Given the description of an element on the screen output the (x, y) to click on. 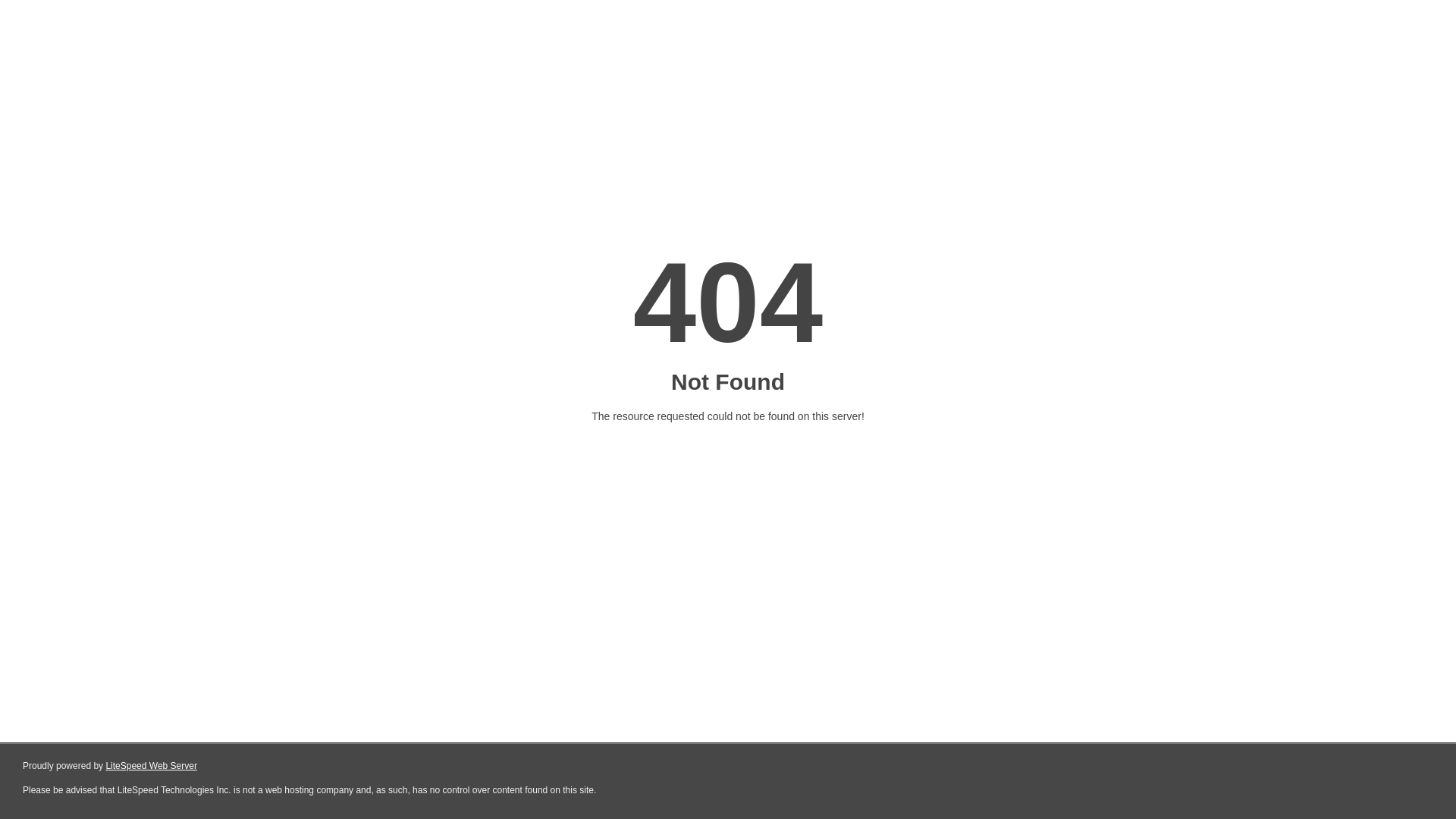
LiteSpeed Web Server Element type: text (151, 765)
